Given the description of an element on the screen output the (x, y) to click on. 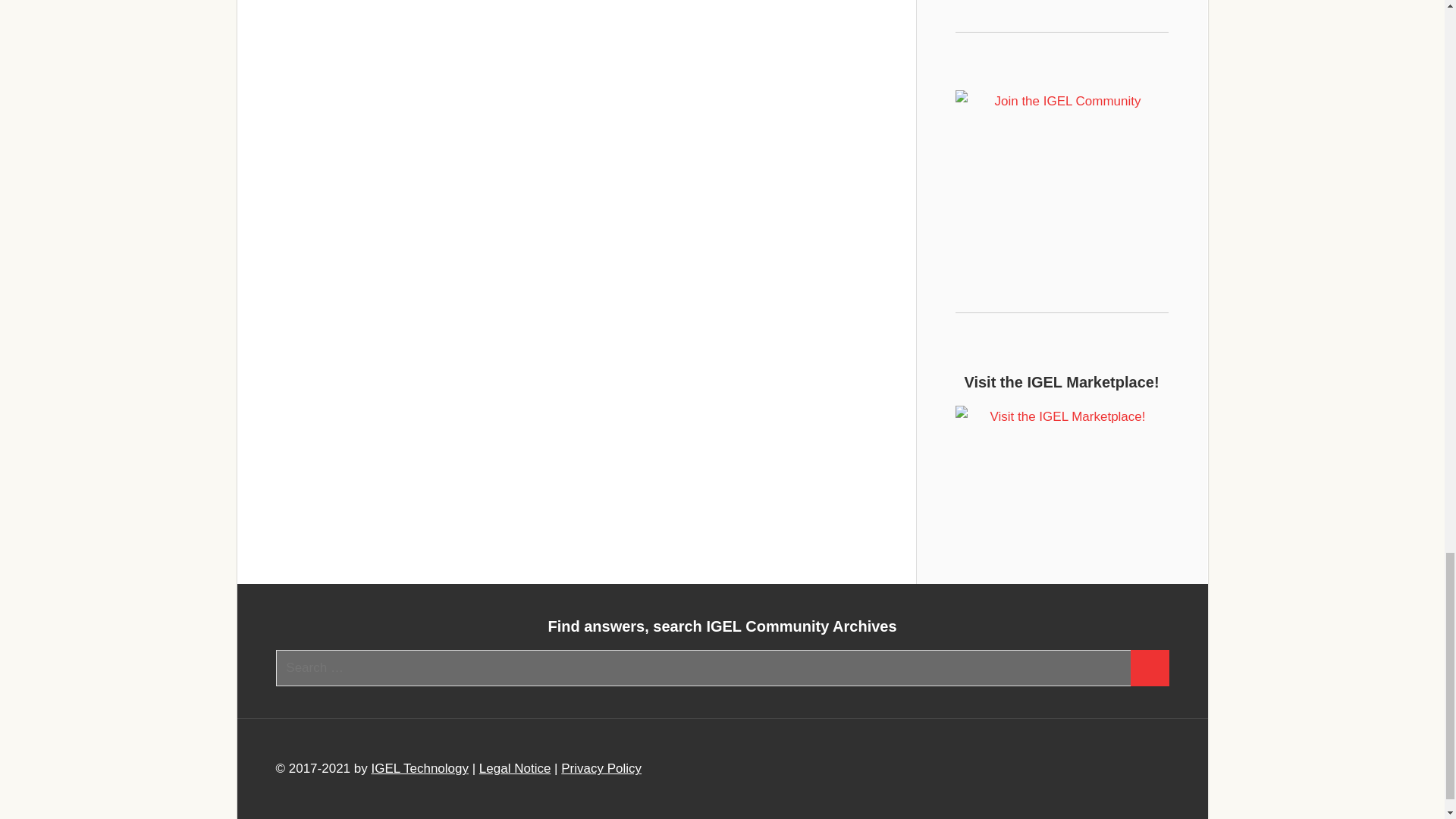
Visit the IGEL Marketplace! (1062, 475)
Search for: (704, 668)
